Given the description of an element on the screen output the (x, y) to click on. 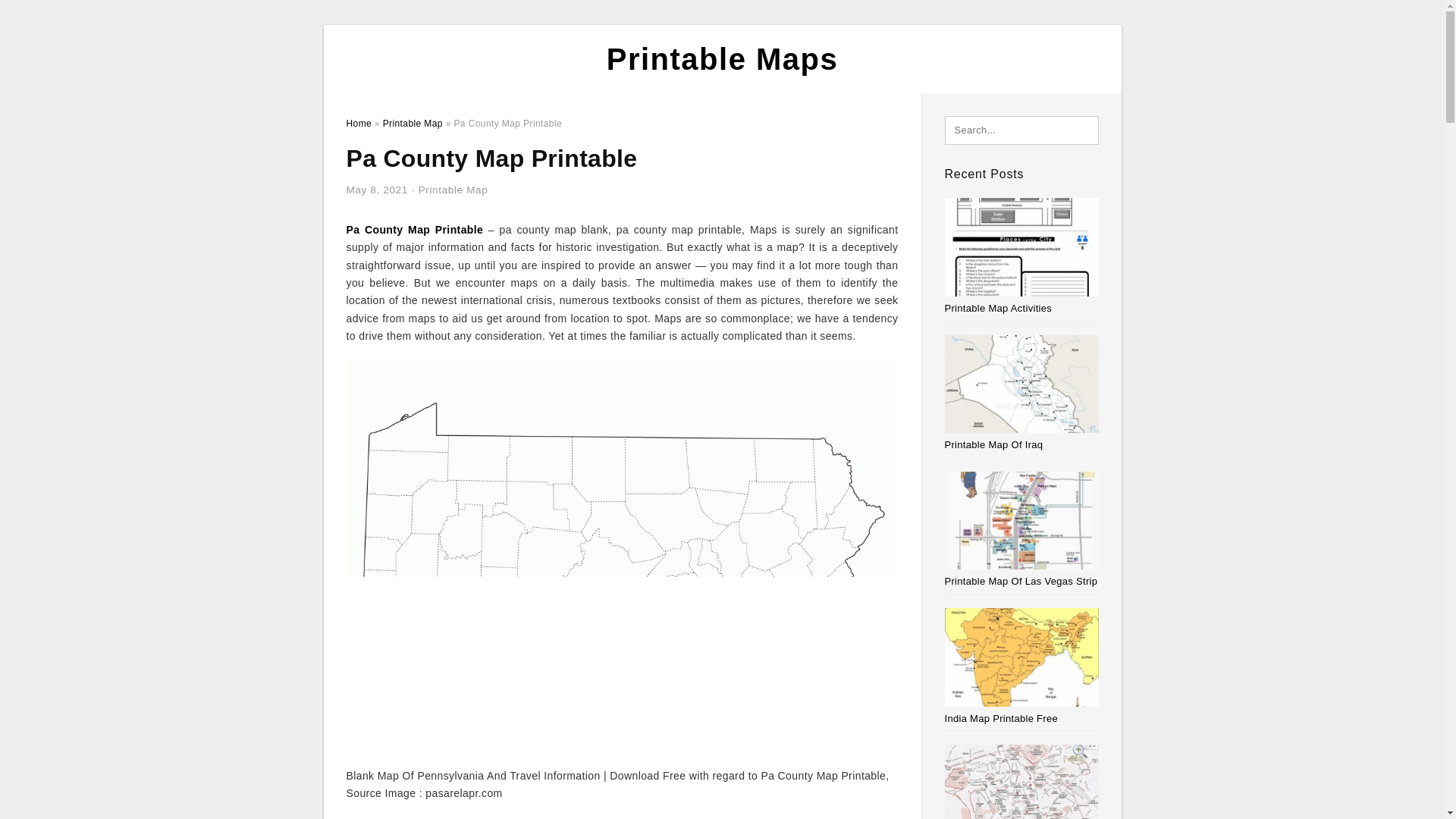
Printable Map Activities (998, 307)
Printable Map (453, 189)
Printable Maps (722, 59)
Pa County Map Printable (414, 229)
Home (358, 122)
Printable Map Of Iraq (993, 444)
Printable Map Of Las Vegas Strip (1020, 581)
Search (43, 15)
